Given the description of an element on the screen output the (x, y) to click on. 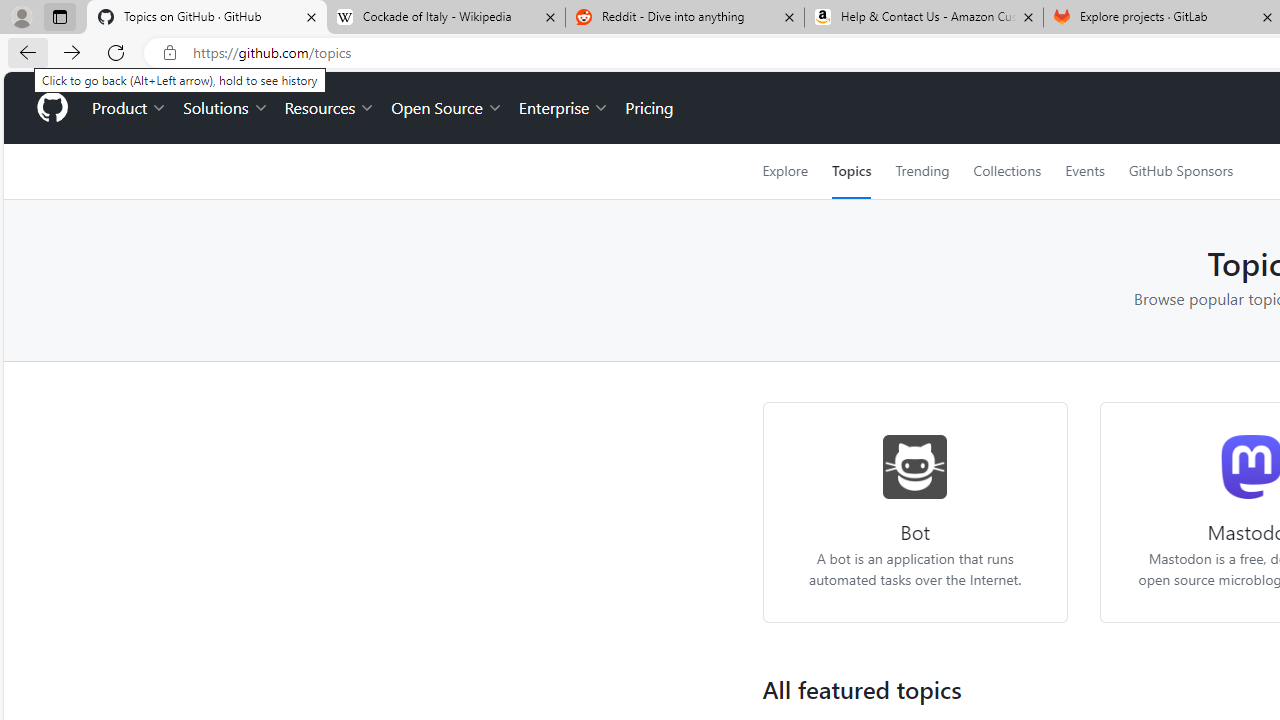
Resources (330, 107)
Events (1084, 171)
Help & Contact Us - Amazon Customer Service (924, 17)
bot (915, 466)
Enterprise (563, 107)
GitHub Sponsors (1180, 171)
Topics (851, 171)
Resources (330, 107)
Pricing (649, 107)
Product (130, 107)
Cockade of Italy - Wikipedia (445, 17)
Trending (921, 171)
